Given the description of an element on the screen output the (x, y) to click on. 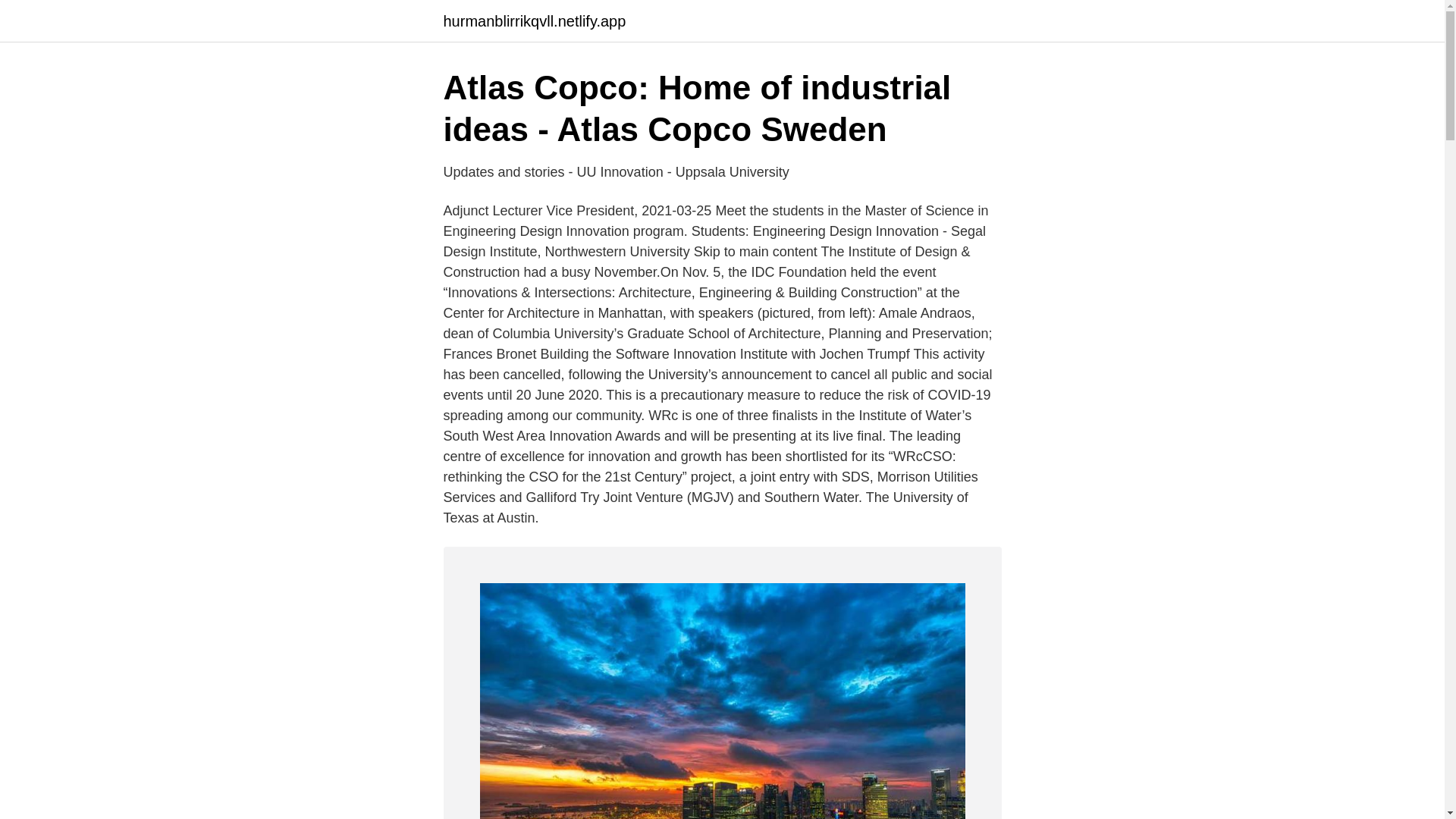
hurmanblirrikqvll.netlify.app (534, 20)
